Given the description of an element on the screen output the (x, y) to click on. 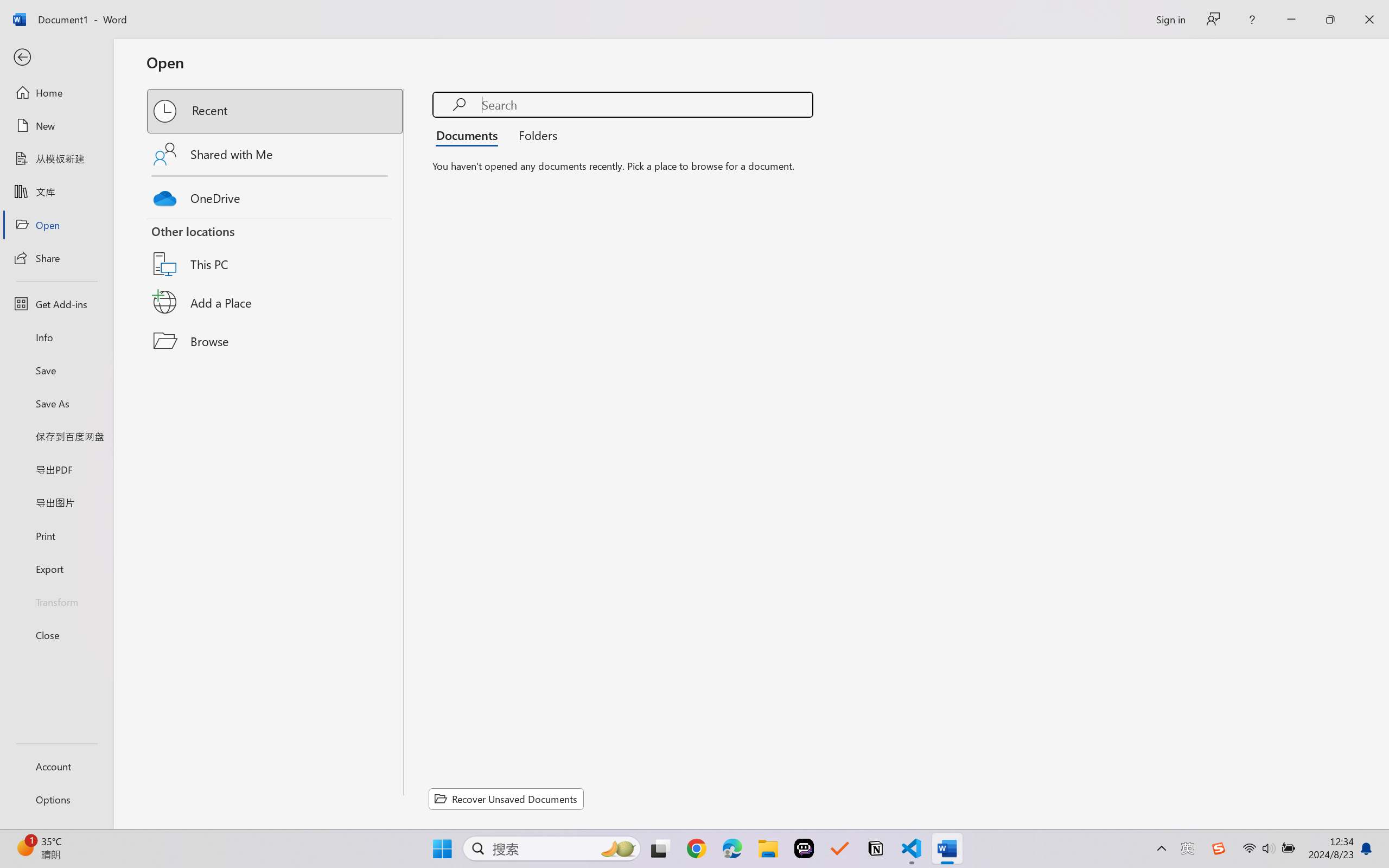
Account (56, 765)
Add a Place (275, 302)
Recent (275, 110)
Shared with Me (275, 153)
Get Add-ins (56, 303)
